Given the description of an element on the screen output the (x, y) to click on. 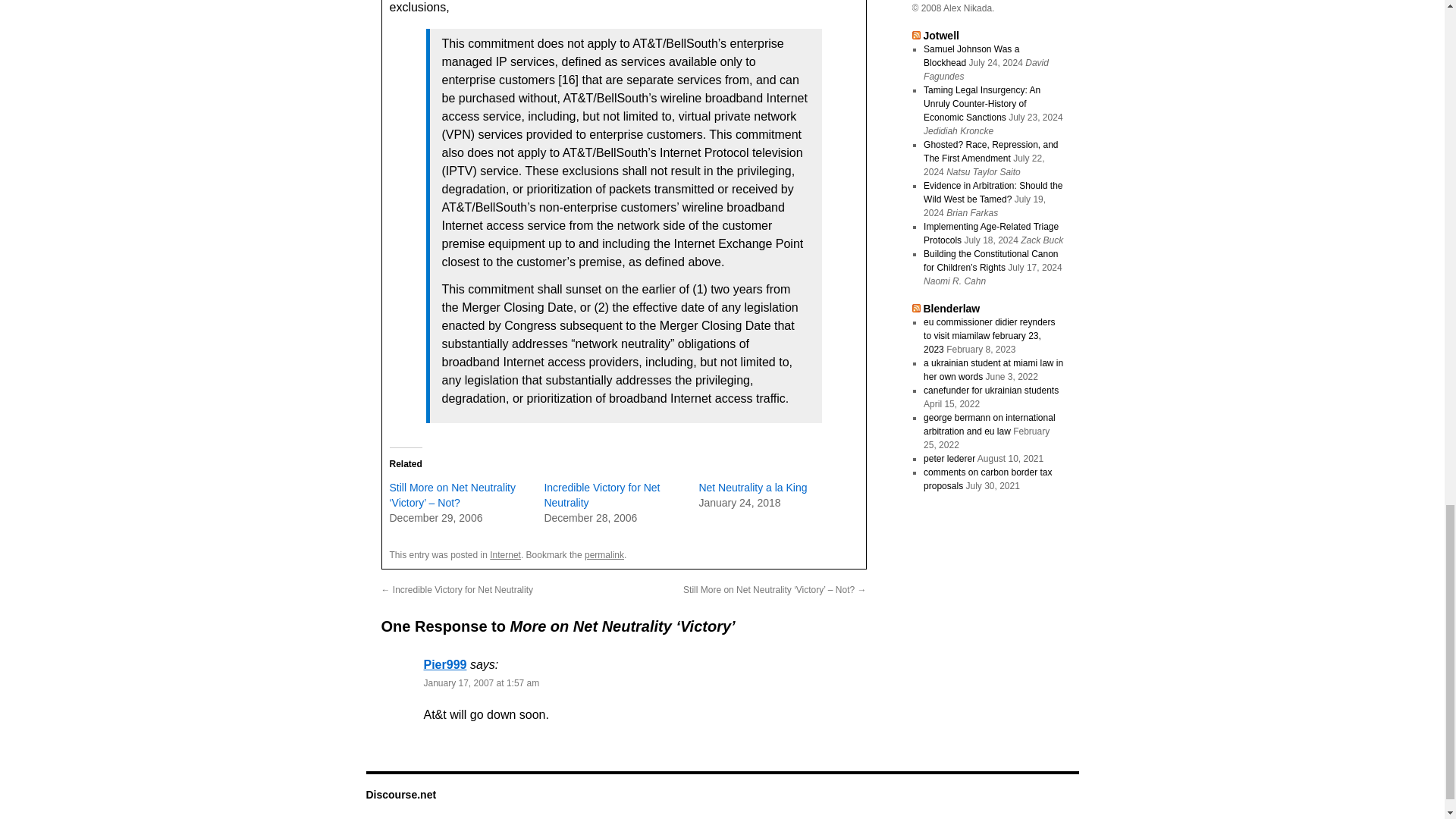
January 17, 2007 at 1:57 am (480, 683)
Incredible Victory for Net Neutrality (601, 494)
Net Neutrality a la King (752, 487)
Pier999 (444, 664)
Internet (505, 554)
Net Neutrality a la King (752, 487)
Incredible Victory for Net Neutrality (601, 494)
permalink (604, 554)
